Given the description of an element on the screen output the (x, y) to click on. 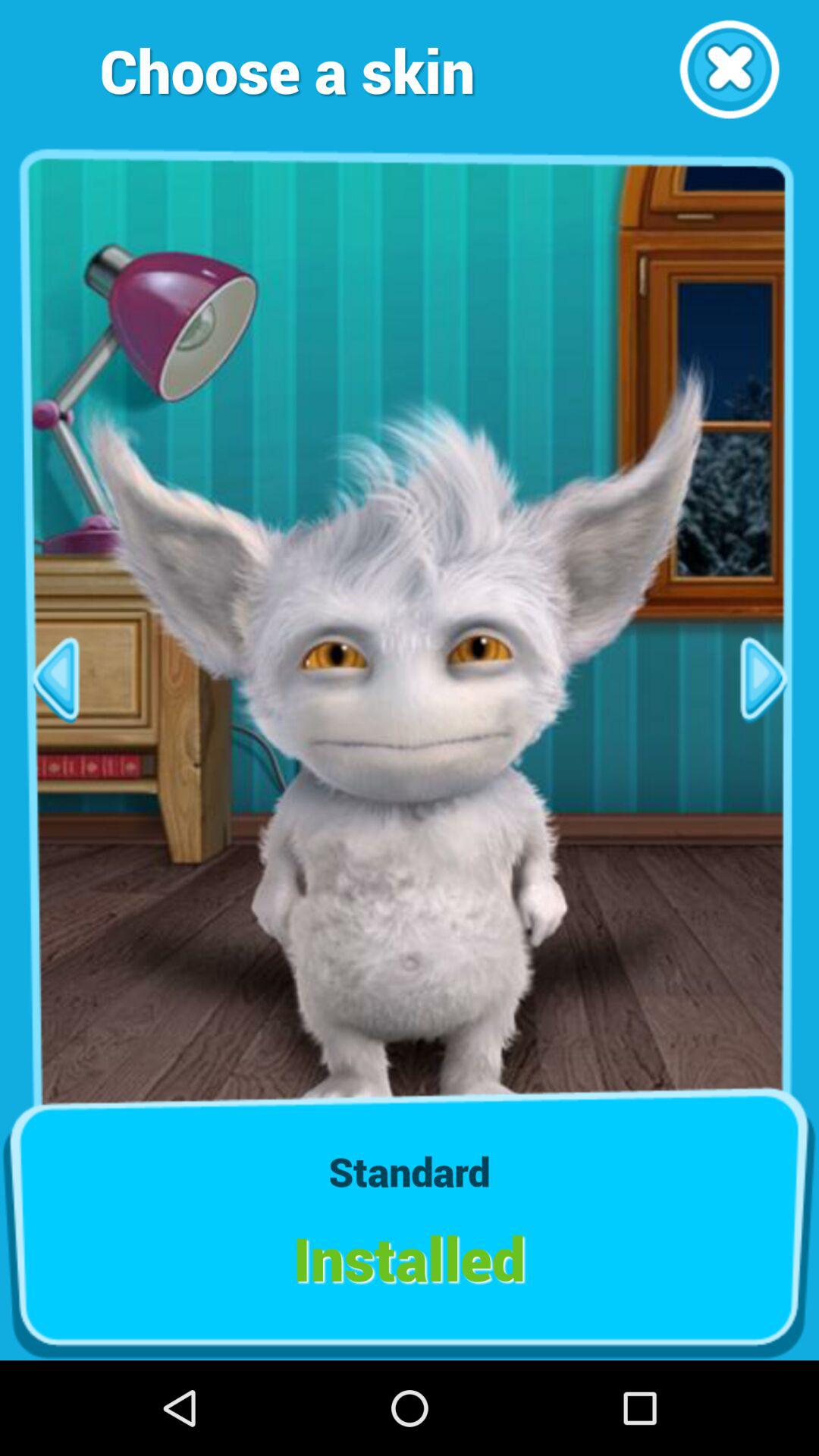
go to next (763, 679)
